Given the description of an element on the screen output the (x, y) to click on. 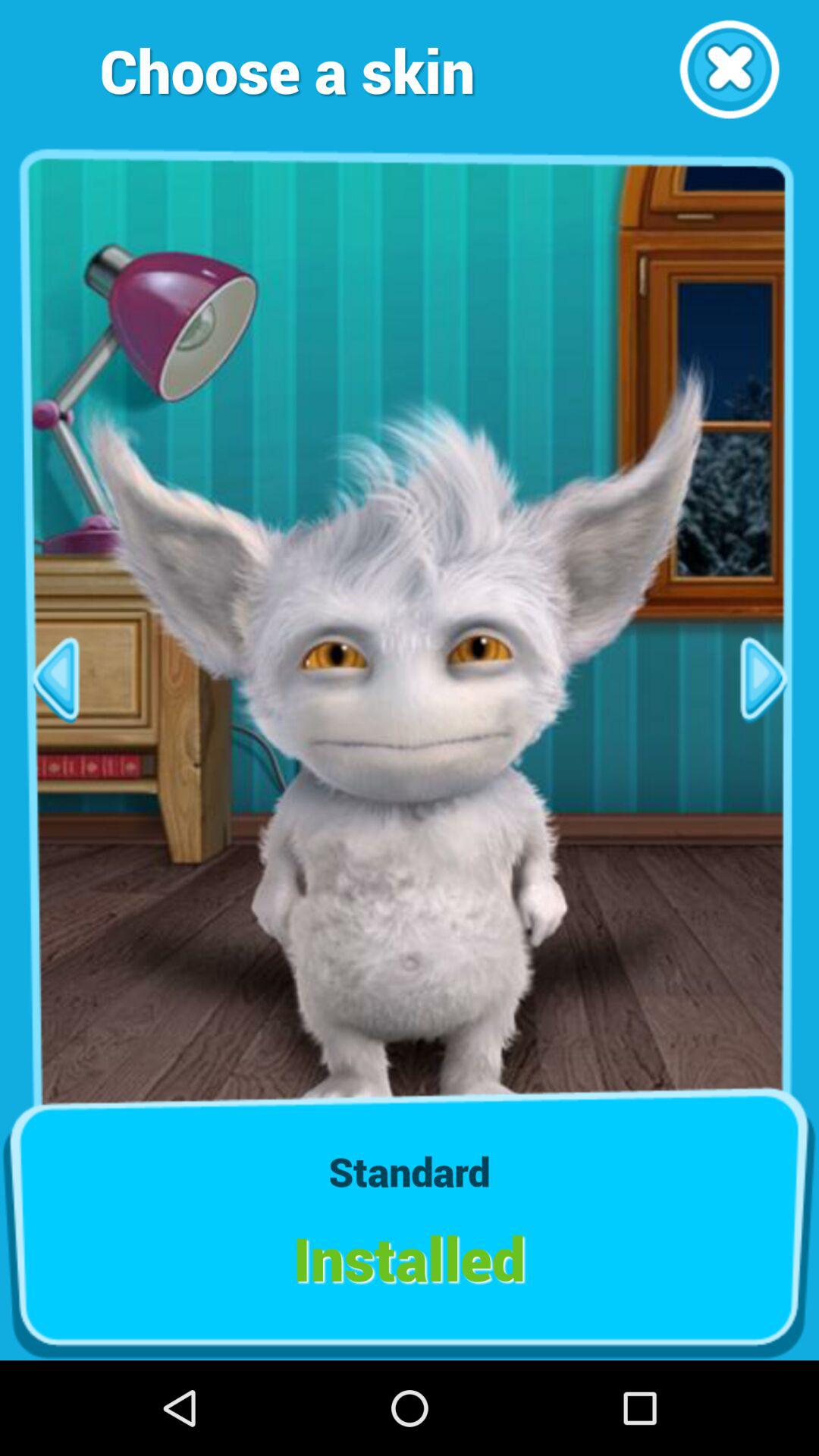
go to next (763, 679)
